Given the description of an element on the screen output the (x, y) to click on. 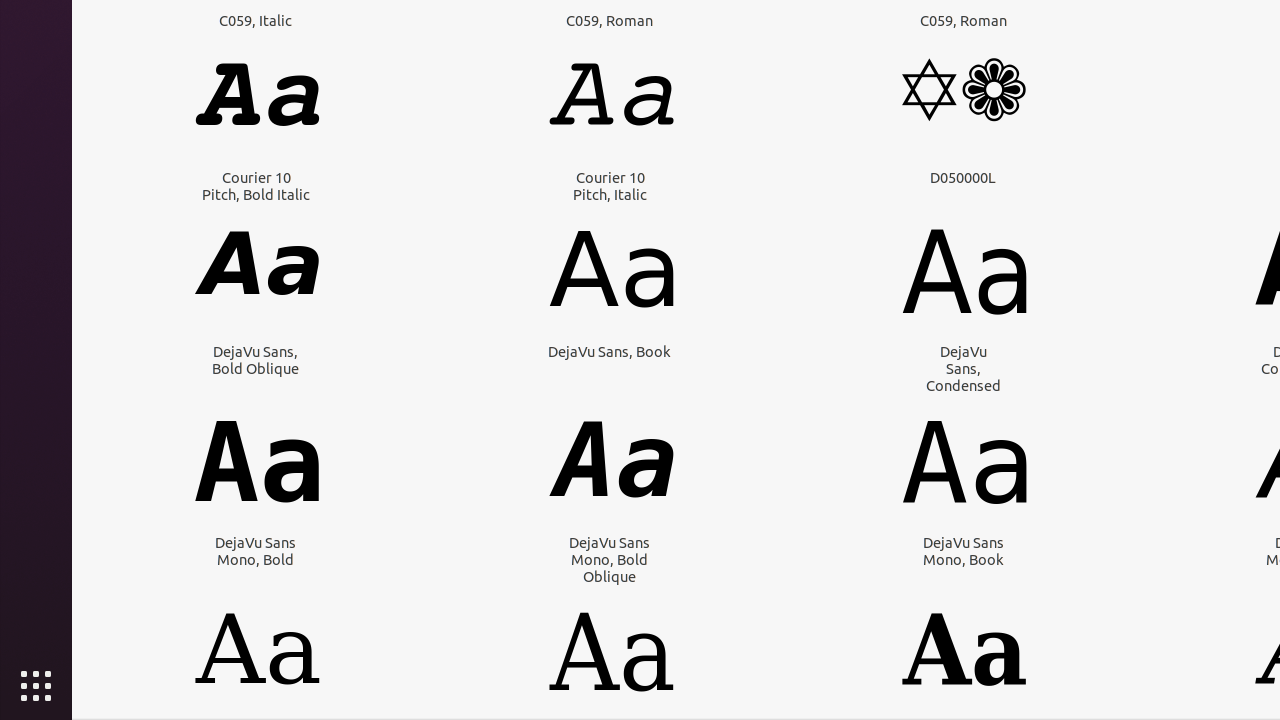
D050000L Element type: label (963, 177)
DejaVu Sans, Condensed Element type: label (963, 368)
DejaVu Sans, Book Element type: label (609, 351)
Courier 10 Pitch, Bold Italic Element type: label (256, 186)
